Given the description of an element on the screen output the (x, y) to click on. 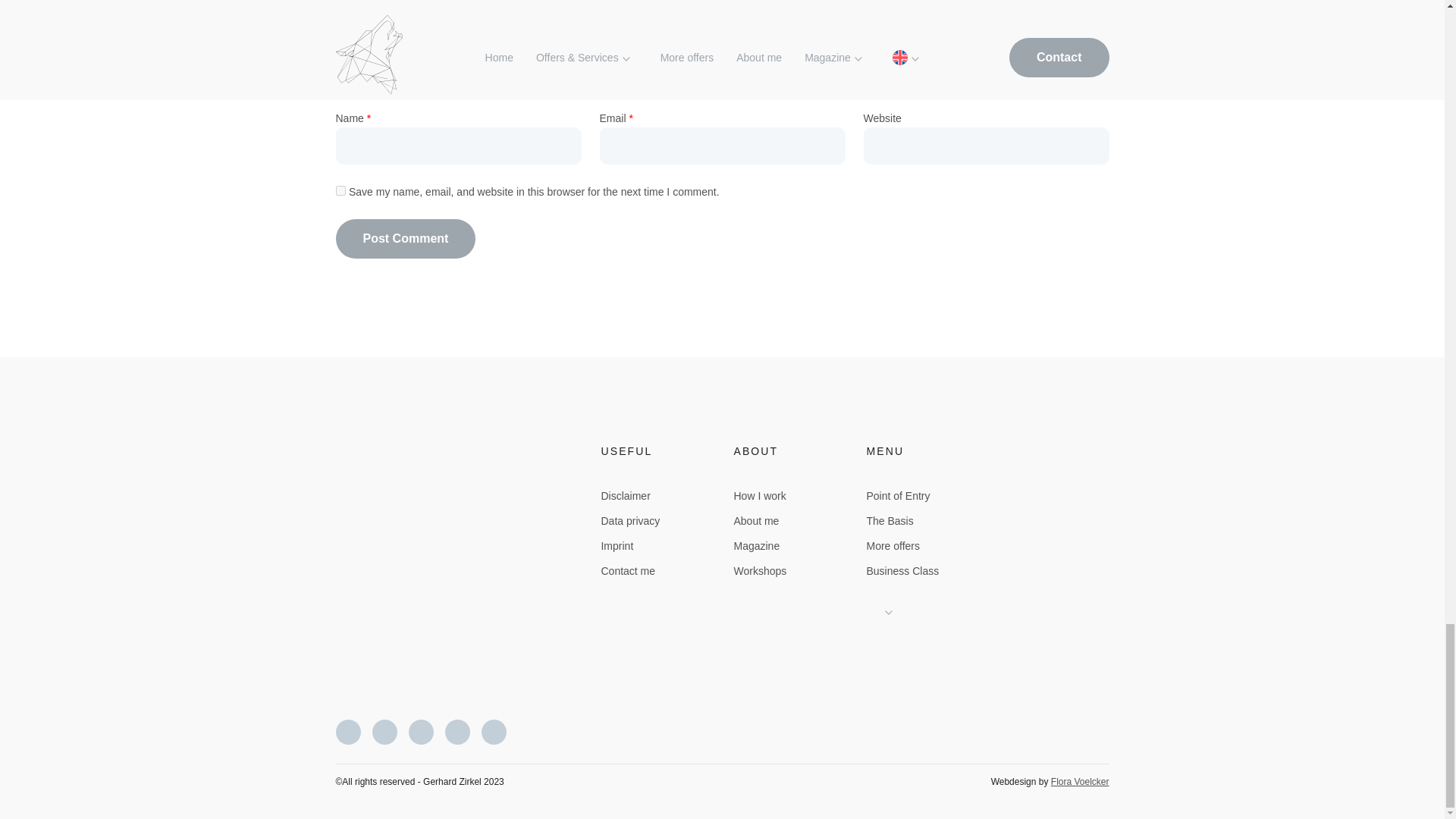
Disclaimer (624, 495)
Contact me (627, 571)
Post Comment (405, 238)
yes (339, 190)
Data privacy (629, 521)
Imprint (616, 545)
Post Comment (405, 238)
